Given the description of an element on the screen output the (x, y) to click on. 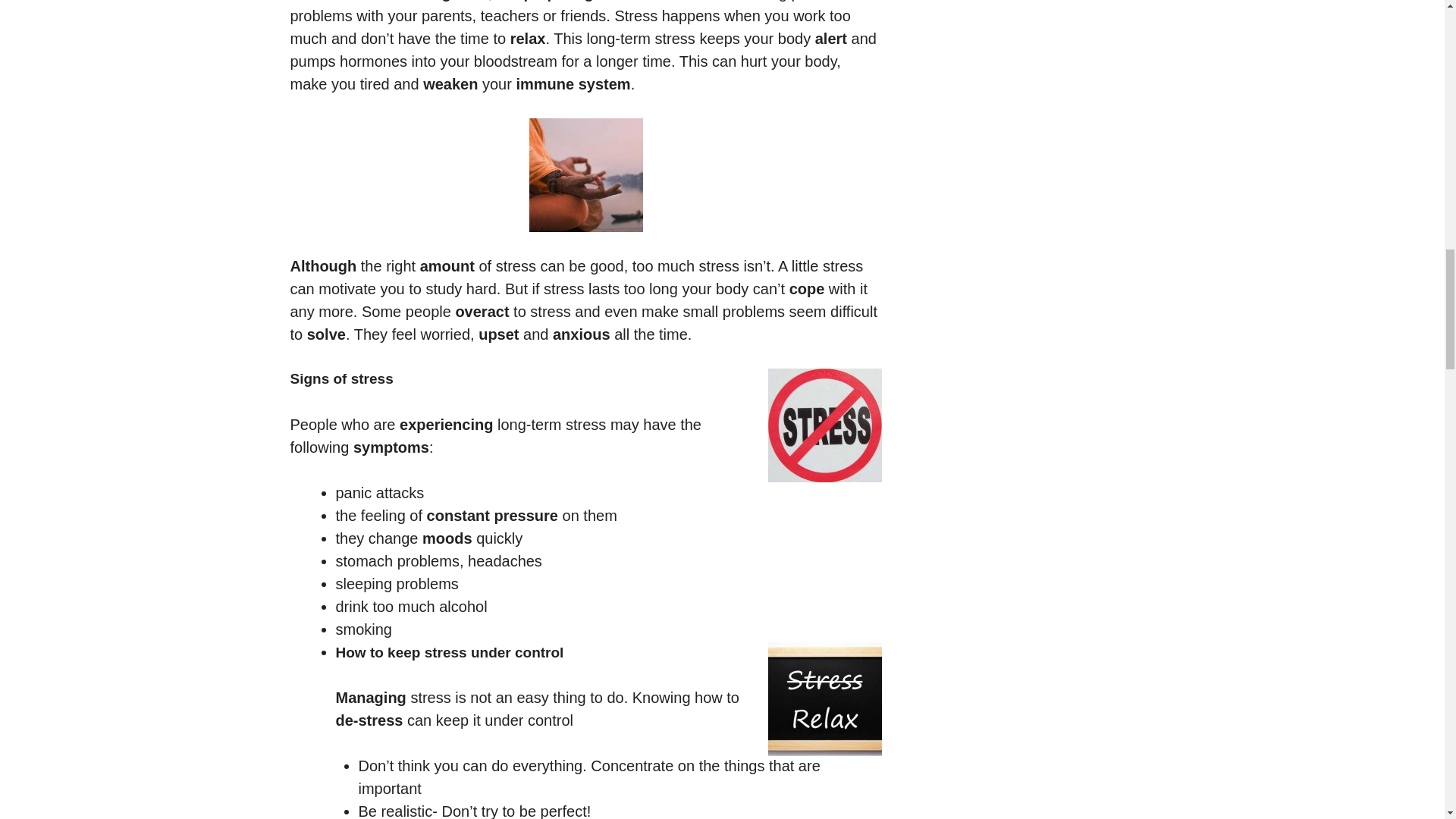
dont-stress-relax (823, 698)
cause-of-stress (823, 425)
chin-mudra-e1326641134244 (586, 174)
